Given the description of an element on the screen output the (x, y) to click on. 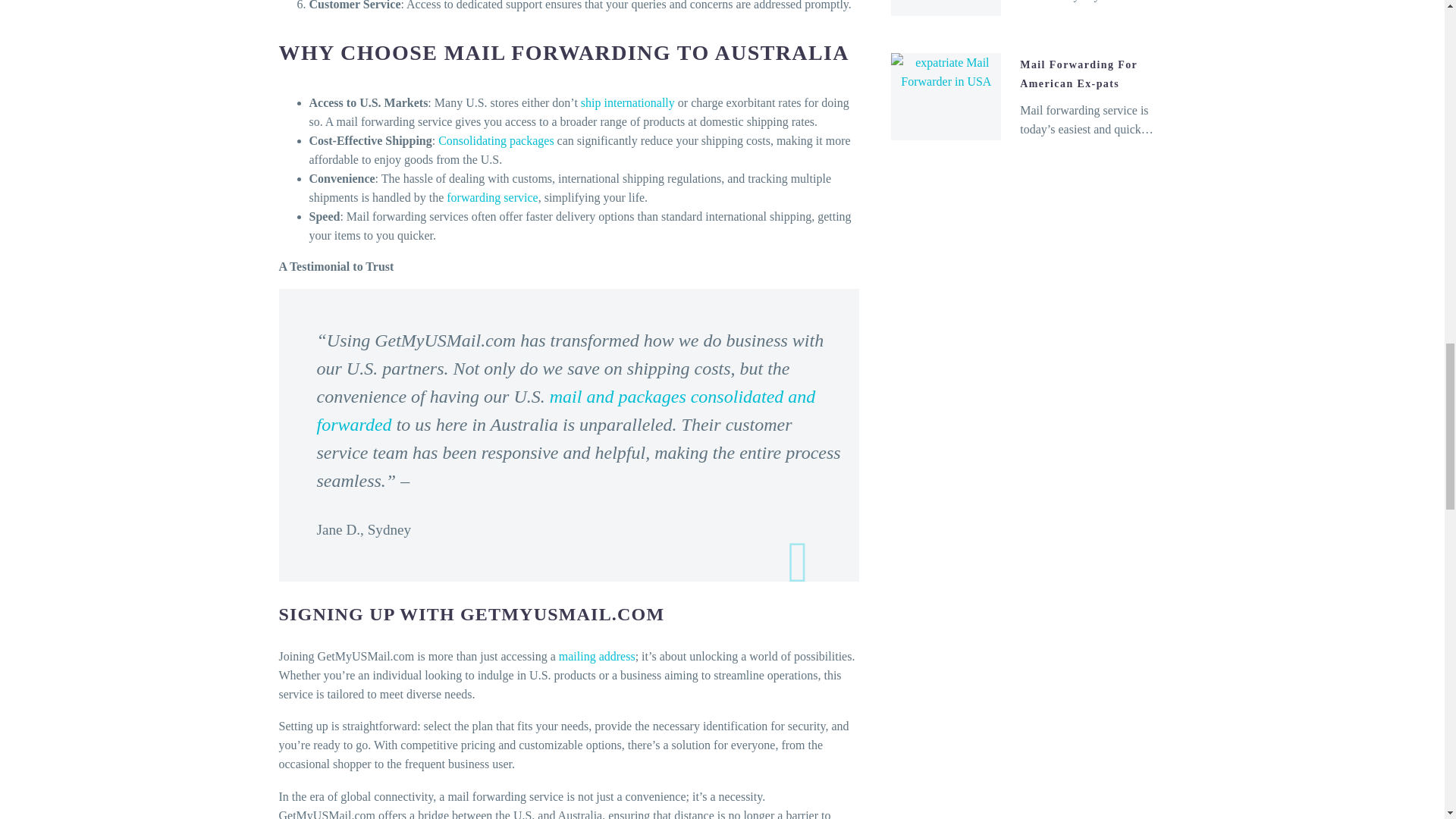
Package Consolidation Service (495, 140)
Navigating the Process: Changing Your U.S Address (596, 656)
Mail Forwarding To Australia (491, 196)
